Given the description of an element on the screen output the (x, y) to click on. 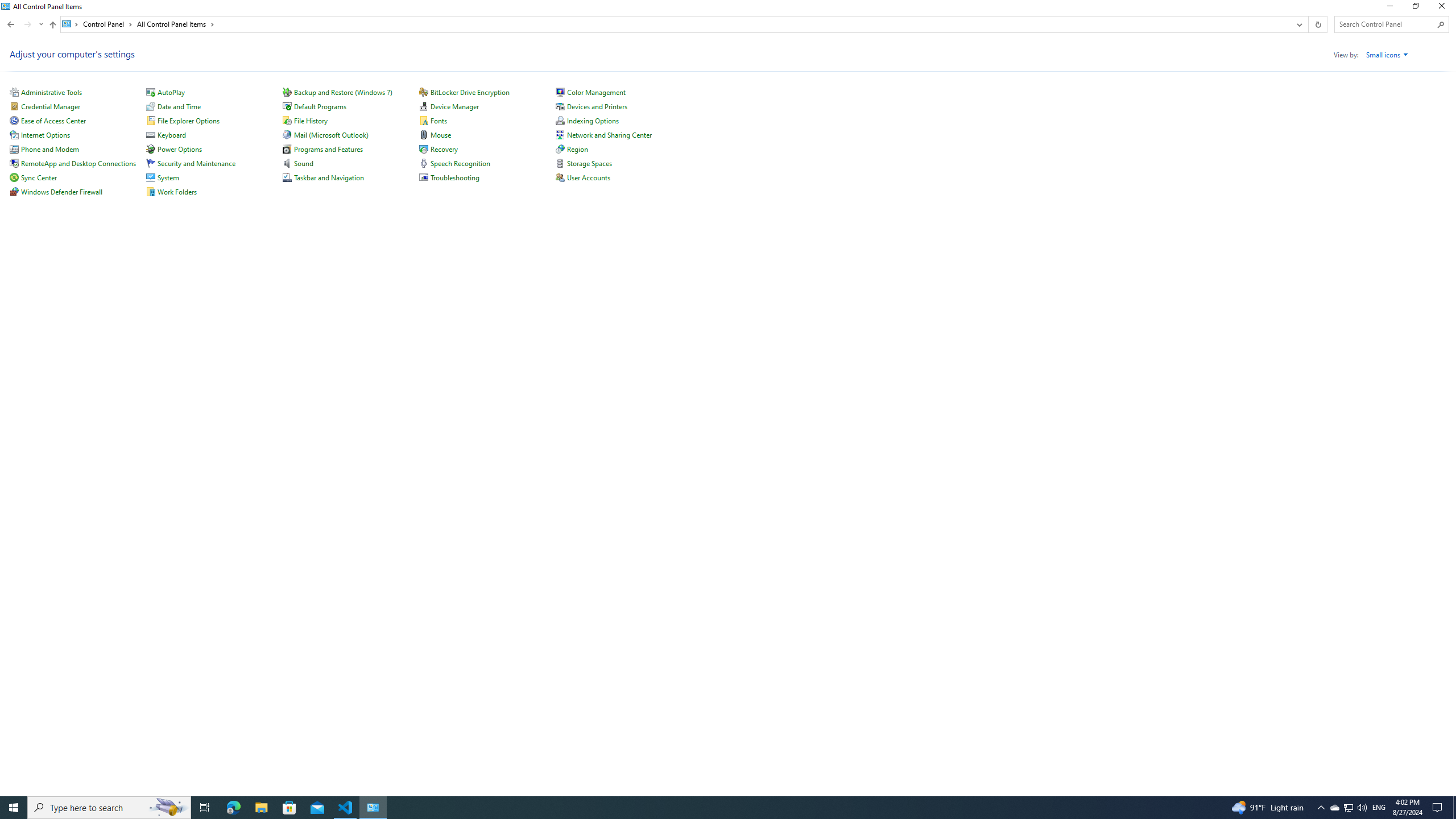
Sound (303, 162)
Search Box (1386, 23)
Network and Sharing Center (609, 135)
Small icons (1386, 54)
Windows Defender Firewall (61, 191)
AutoPlay (170, 92)
Up to "Control Panel" (Alt + Up Arrow) (52, 24)
Power Options (178, 148)
Taskbar and Navigation (328, 177)
Restore (1415, 8)
Search (1441, 24)
Storage Spaces (589, 162)
